Given the description of an element on the screen output the (x, y) to click on. 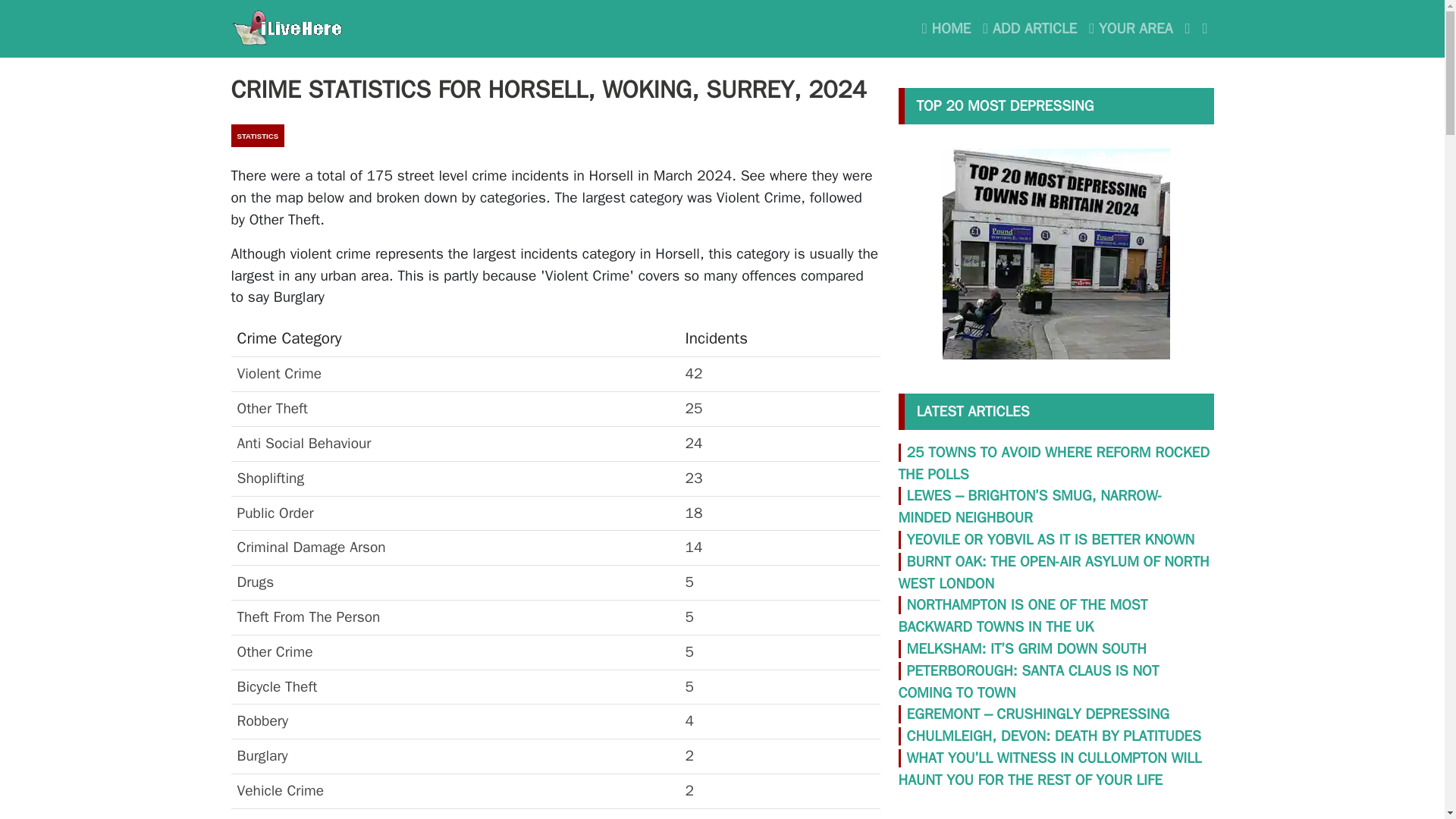
 HOME (945, 28)
 YOUR AREA (1130, 28)
Your Area (1130, 28)
 ADD ARTICLE (1029, 28)
STATISTICS (256, 135)
Home (945, 28)
Add Article (1029, 28)
